Given the description of an element on the screen output the (x, y) to click on. 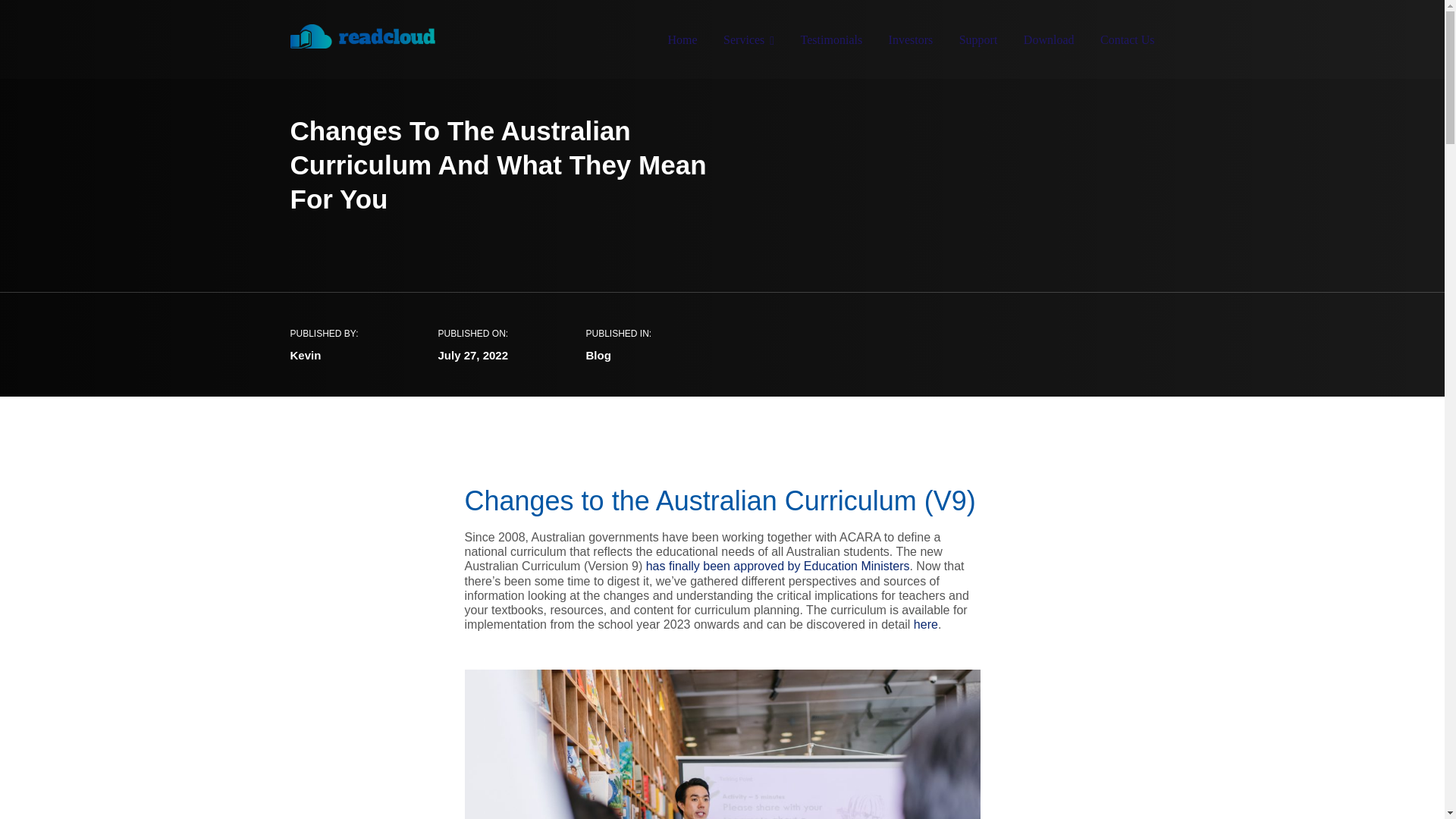
Download (1048, 41)
Home (682, 41)
Support (978, 41)
here (925, 624)
Testimonials (831, 41)
Kevin (304, 354)
July 27, 2022 (473, 354)
Services (748, 41)
Investors (910, 41)
has finally been approved by Education Ministers (778, 565)
